Given the description of an element on the screen output the (x, y) to click on. 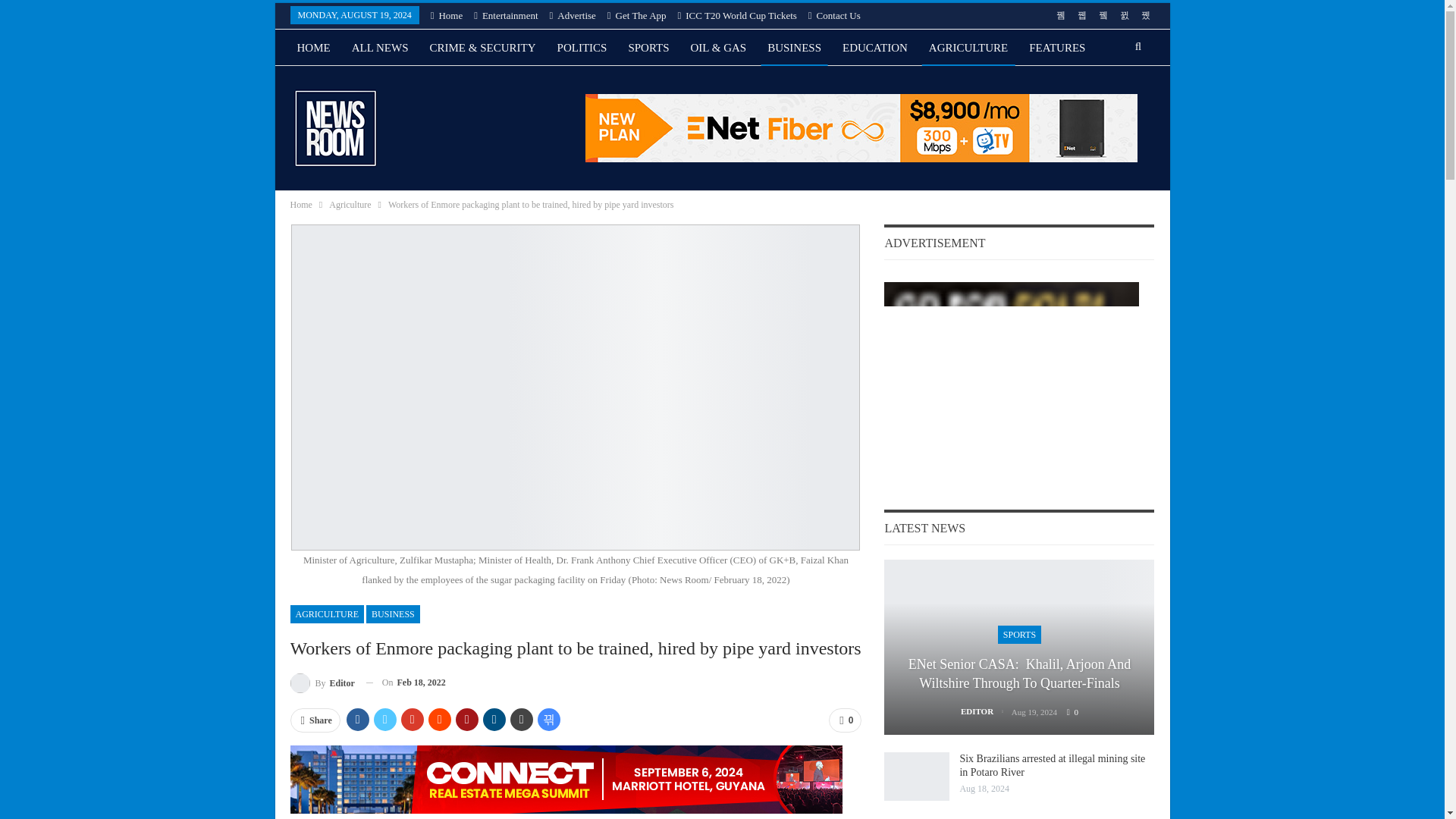
BUSINESS (393, 614)
POLITICS (582, 47)
Get The App (636, 15)
Browse Author Articles (321, 682)
AGRICULTURE (326, 614)
Entertainment (505, 15)
Agriculture (350, 204)
BUSINESS (794, 47)
EDUCATION (874, 47)
ALL NEWS (379, 47)
